Given the description of an element on the screen output the (x, y) to click on. 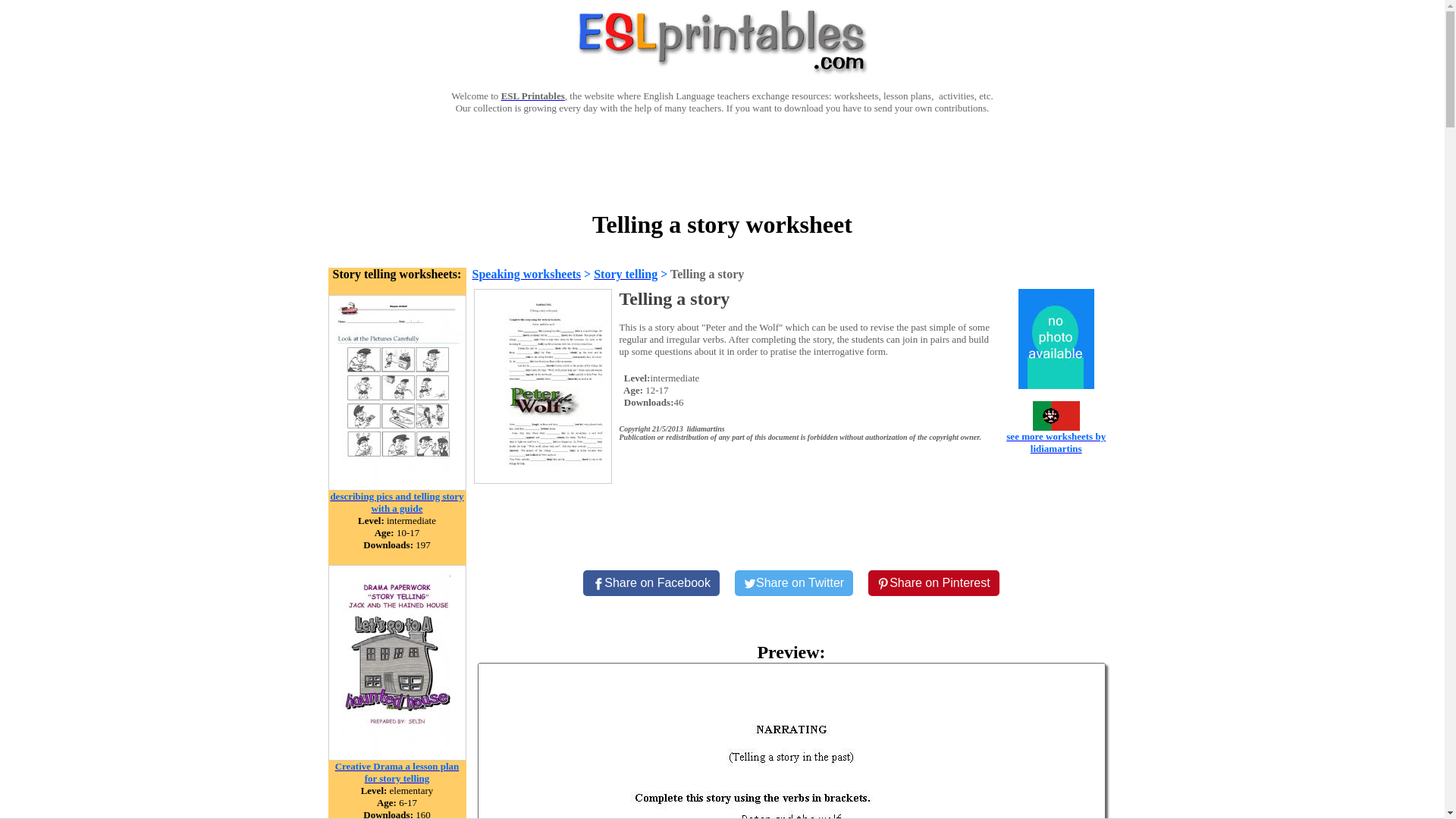
English worksheets: English worksheets and lesson plans (532, 95)
ESL Printables (532, 95)
describing pics and telling story with a guide (396, 486)
describing pics and telling story with a guide (396, 501)
Creative Drama a lesson plan for story telling (397, 771)
Creative Drama a lesson plan for story telling (396, 756)
describing pics and telling story with a guide (396, 501)
Creative Drama a lesson plan for story telling (397, 771)
